Given the description of an element on the screen output the (x, y) to click on. 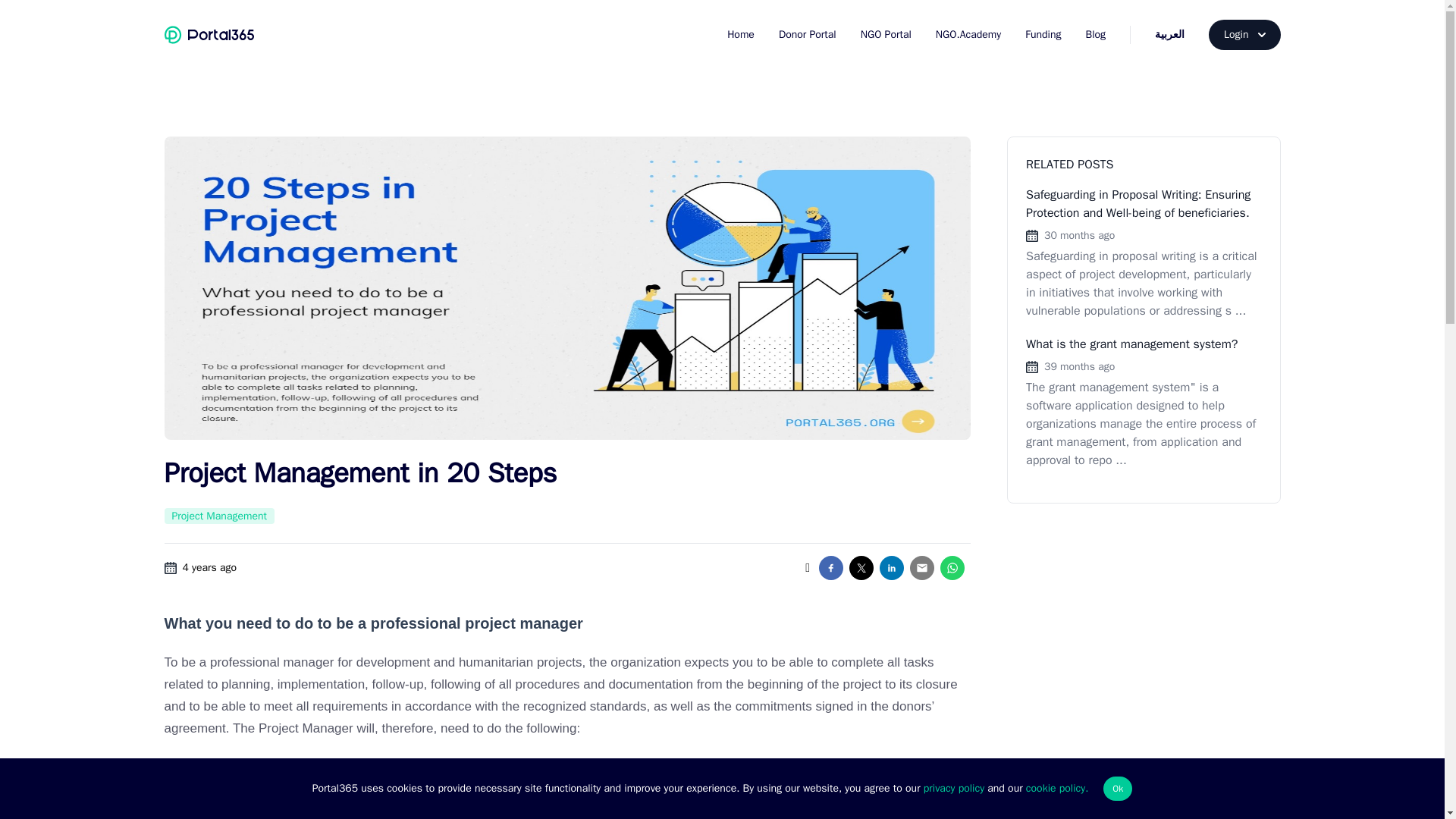
Home (740, 34)
Funding (1043, 34)
What is the grant management system? (1131, 344)
the project proposal (300, 808)
Login (1243, 34)
Donor Portal (806, 34)
Blog (1094, 34)
NGO Portal (885, 34)
NGO.Academy (968, 34)
